Given the description of an element on the screen output the (x, y) to click on. 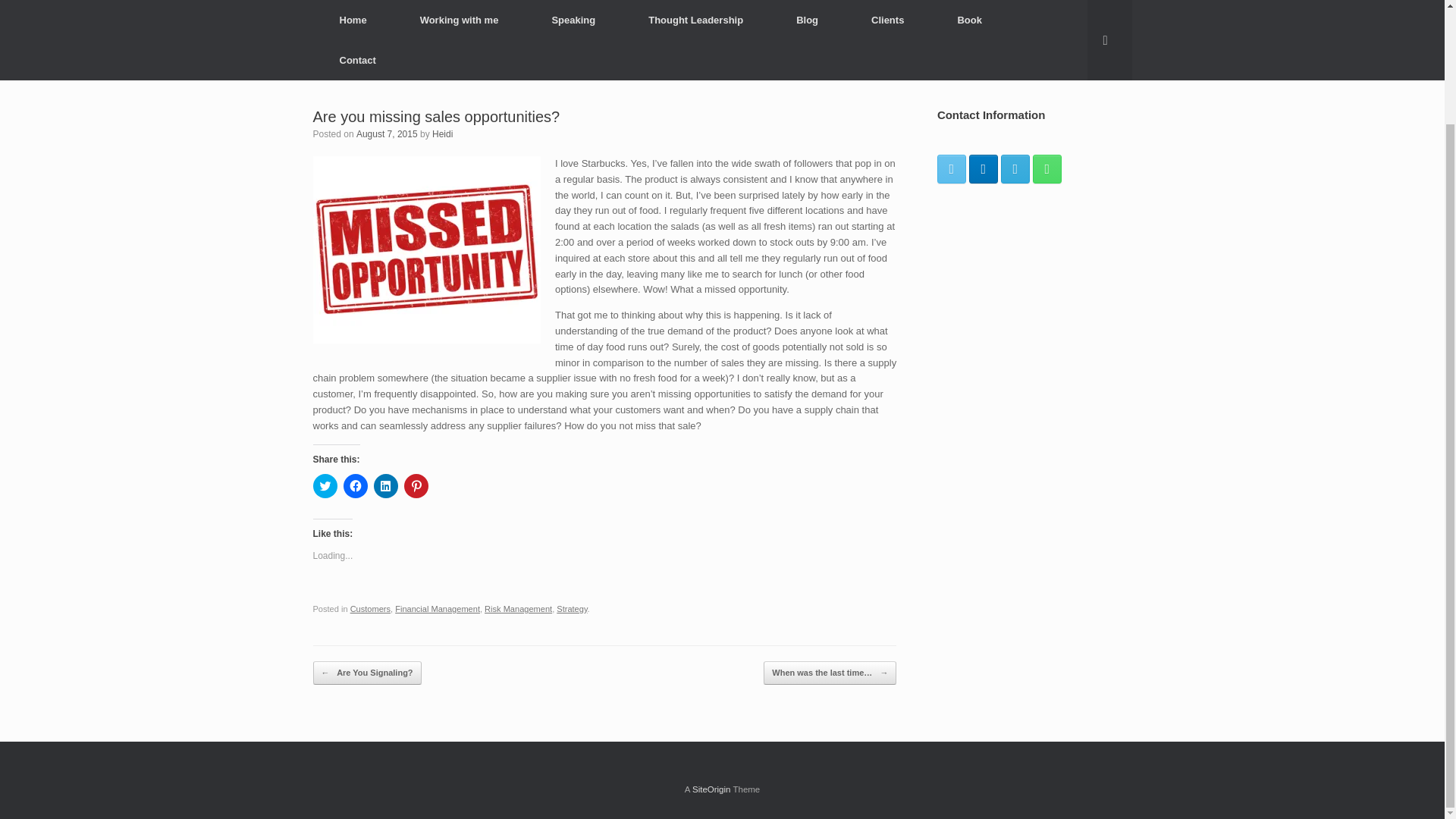
Customers (370, 608)
View all posts by Heidi (442, 133)
August 7, 2015 (386, 133)
Financial Management (437, 608)
Pozzo Consulting LinkedIn (983, 167)
Click to share on LinkedIn (384, 485)
Strategy (571, 608)
10:16 am (386, 133)
Risk Management (517, 608)
Thought Leadership (695, 20)
